Given the description of an element on the screen output the (x, y) to click on. 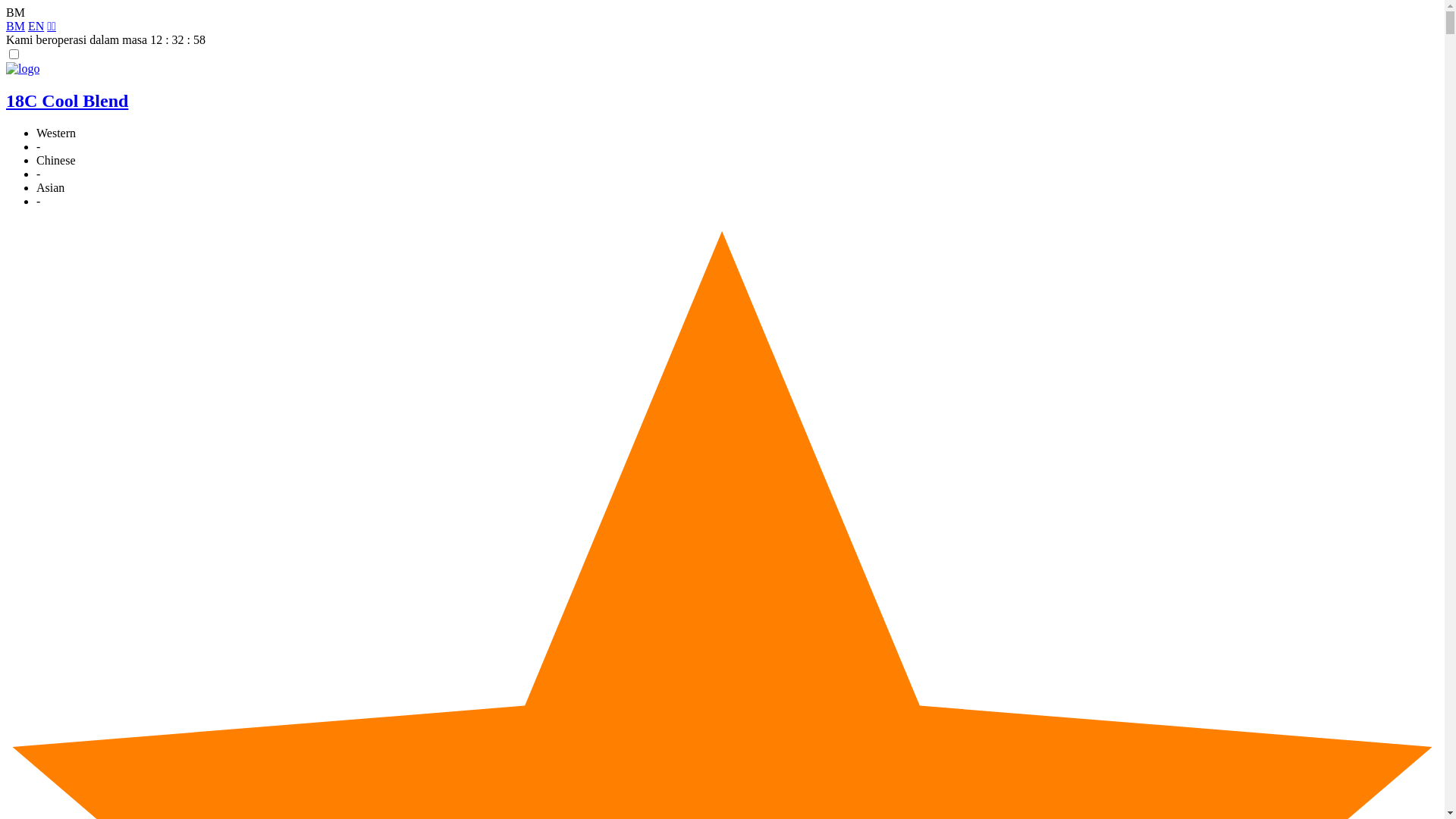
BM Element type: text (15, 12)
EN Element type: text (35, 25)
18C Cool Blend Element type: text (67, 100)
BM Element type: text (15, 25)
